Given the description of an element on the screen output the (x, y) to click on. 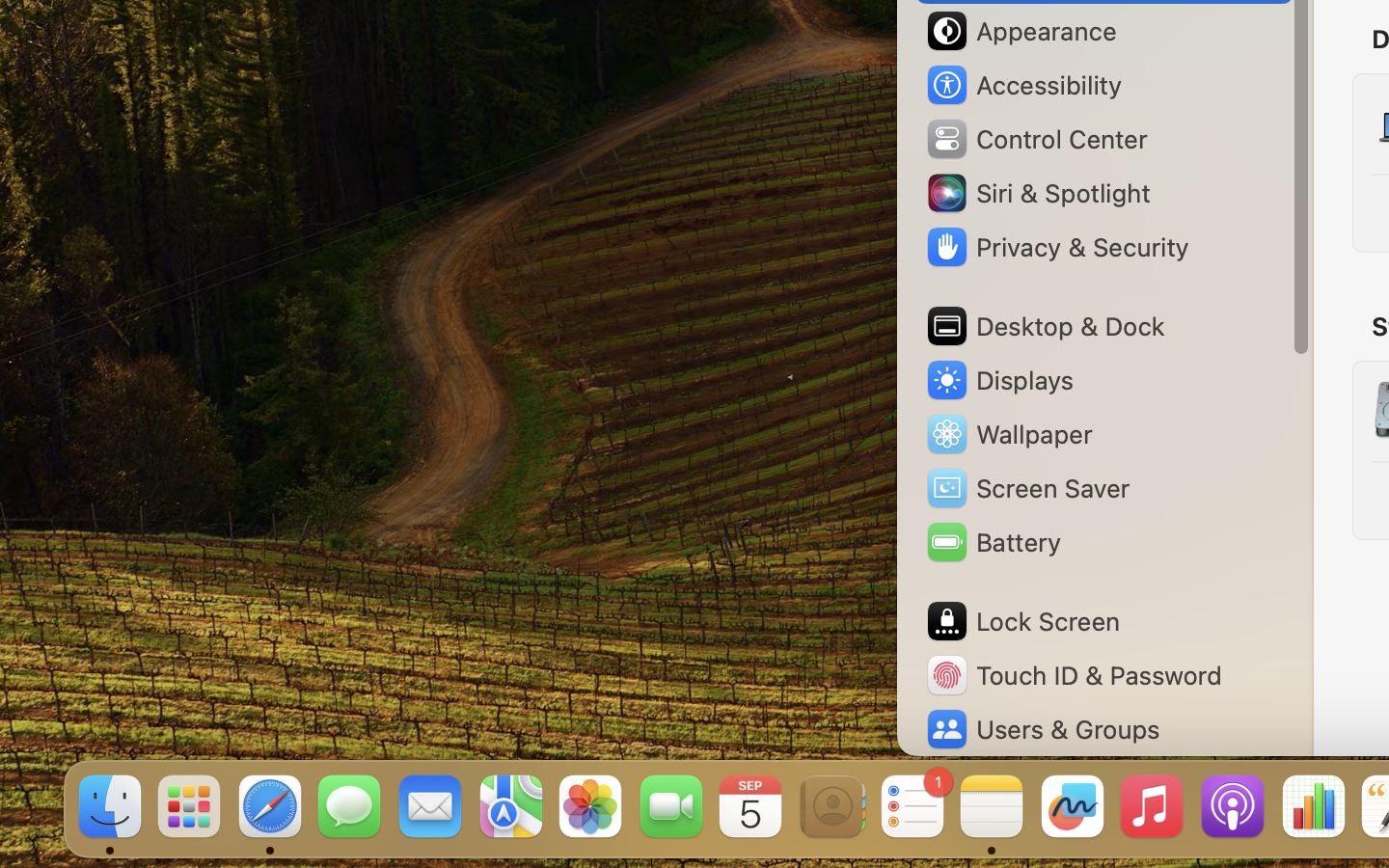
Wallpaper Element type: AXStaticText (1007, 433)
Displays Element type: AXStaticText (999, 379)
Control Center Element type: AXStaticText (1035, 138)
